Given the description of an element on the screen output the (x, y) to click on. 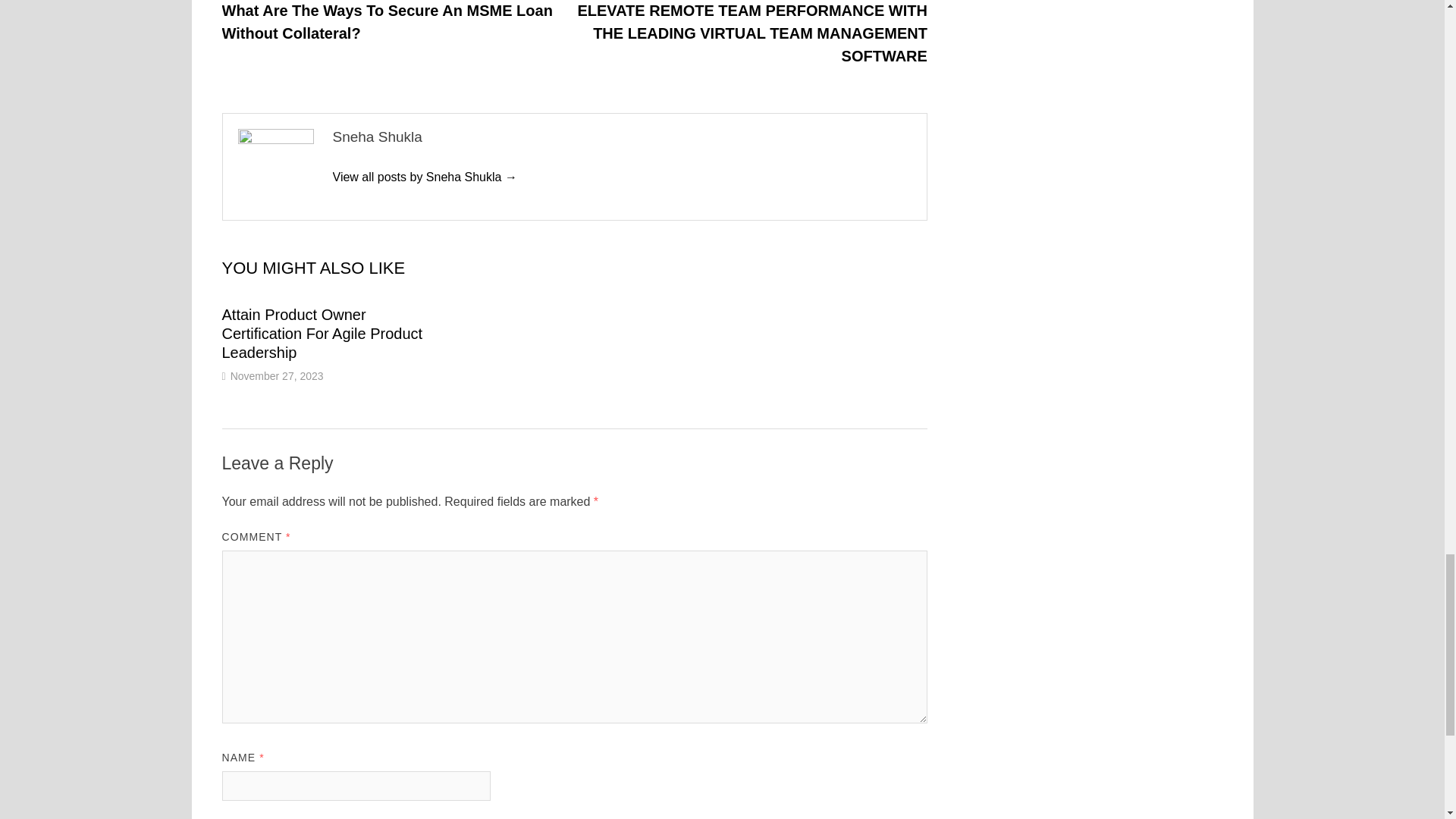
Sneha Shukla (423, 176)
